Given the description of an element on the screen output the (x, y) to click on. 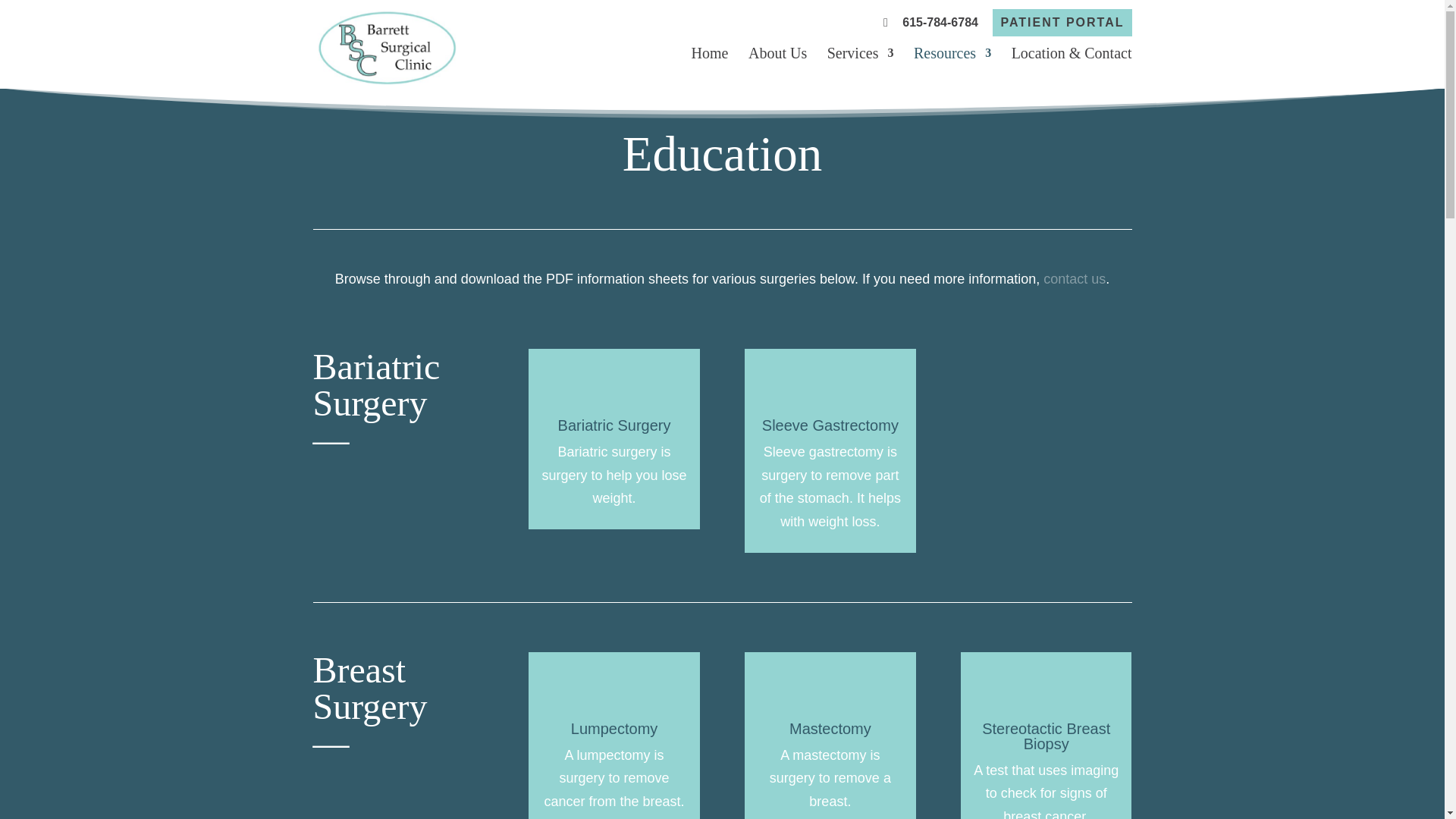
615-784-6784 (930, 22)
Resources (952, 58)
PATIENT PORTAL (1062, 22)
About Us (777, 58)
Services (860, 58)
Home (710, 58)
contact us (1074, 278)
